Given the description of an element on the screen output the (x, y) to click on. 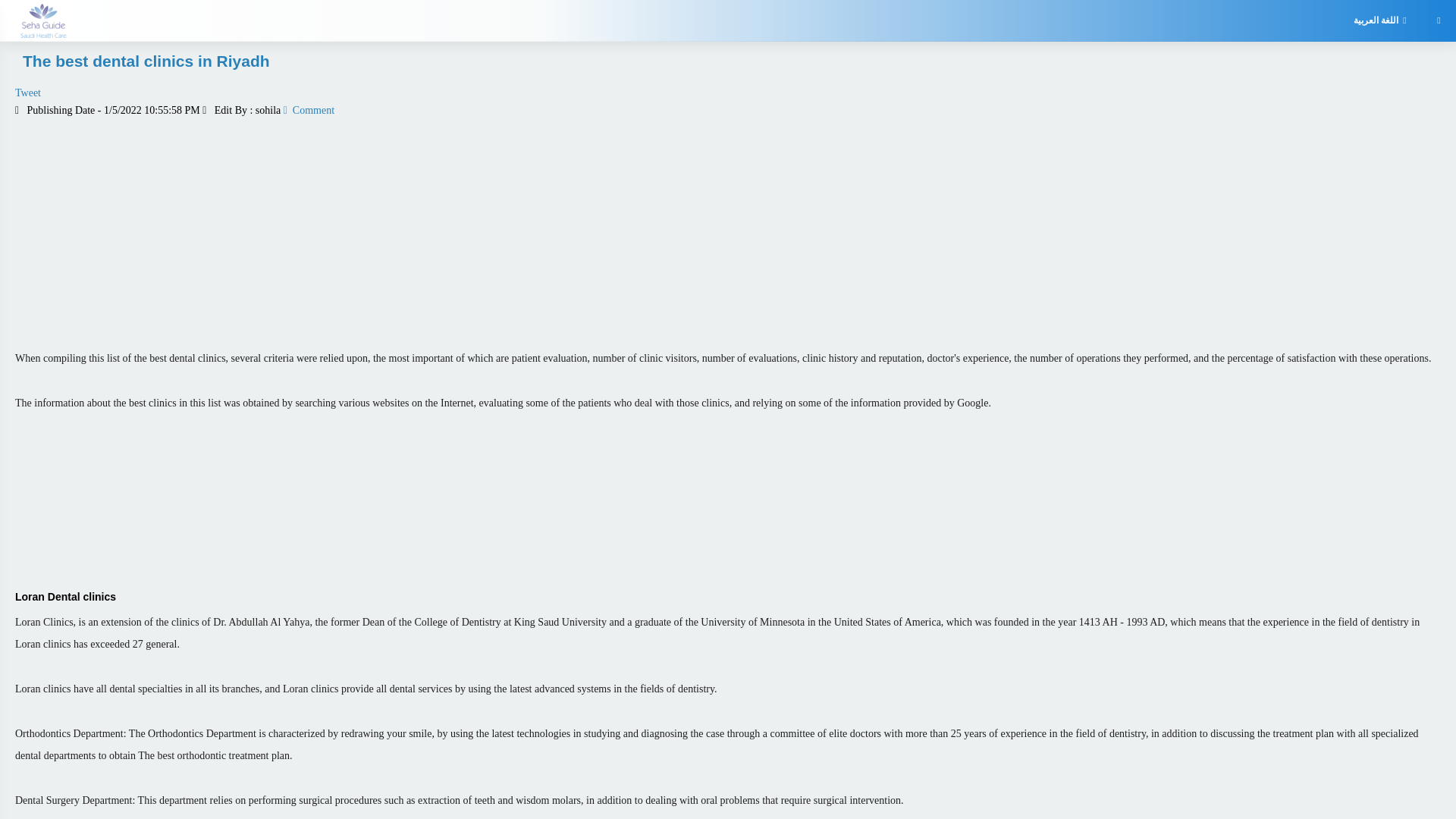
The best dental clinics in Riyadh (146, 60)
Tweet (727, 92)
